Given the description of an element on the screen output the (x, y) to click on. 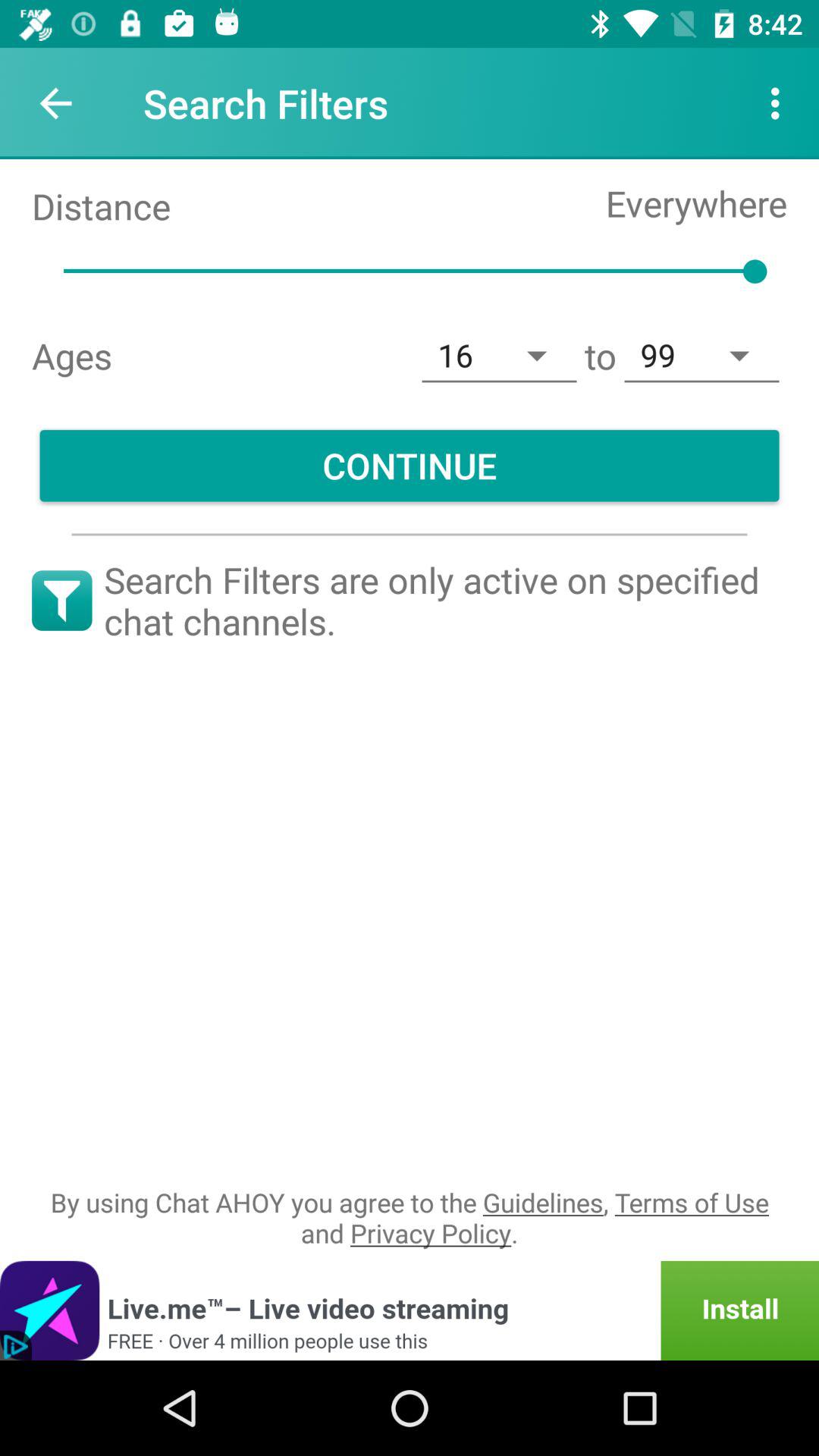
click icon next to search filters (55, 103)
